Given the description of an element on the screen output the (x, y) to click on. 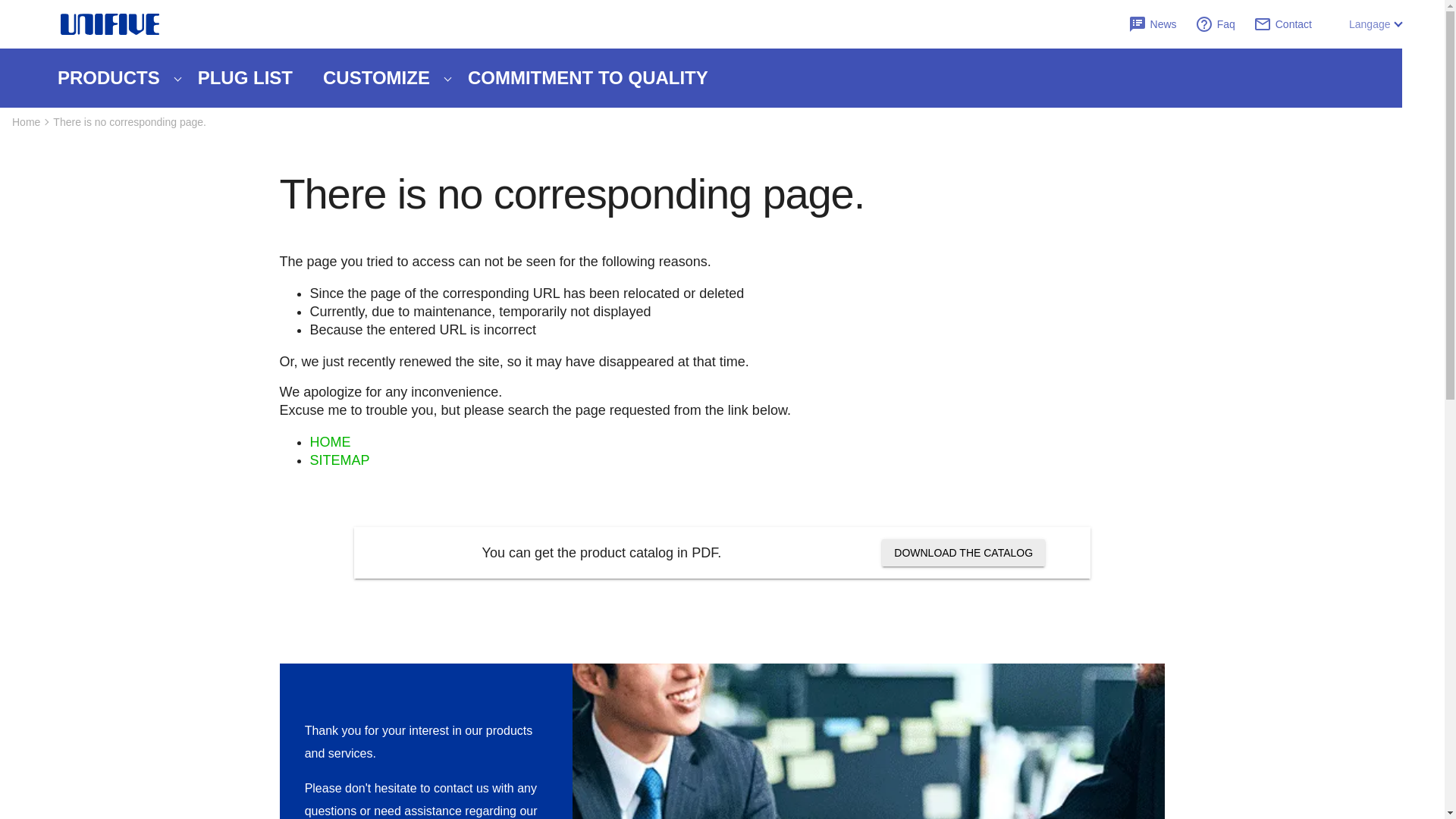
CUSTOMIZE (379, 77)
SITEMAP (338, 459)
PLUG LIST (245, 77)
Faq (1224, 24)
DOWNLOAD THE CATALOG (963, 552)
Home (25, 121)
HOME (329, 441)
COMMITMENT TO QUALITY (587, 77)
News (1161, 24)
Contact (1291, 24)
